Given the description of an element on the screen output the (x, y) to click on. 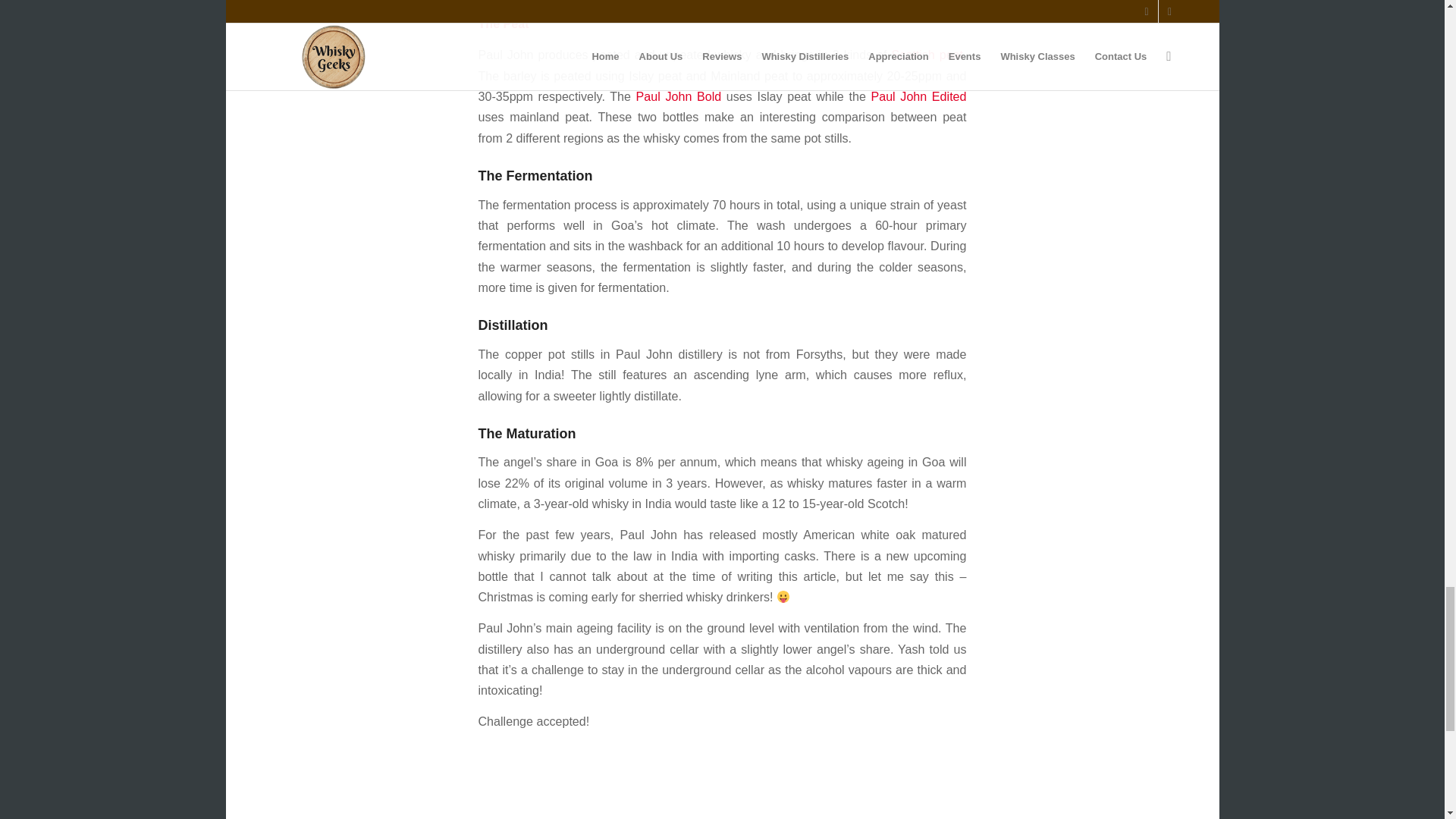
Scottish peat (924, 54)
Paul John Bold (679, 96)
Paul John Edited (918, 96)
